Given the description of an element on the screen output the (x, y) to click on. 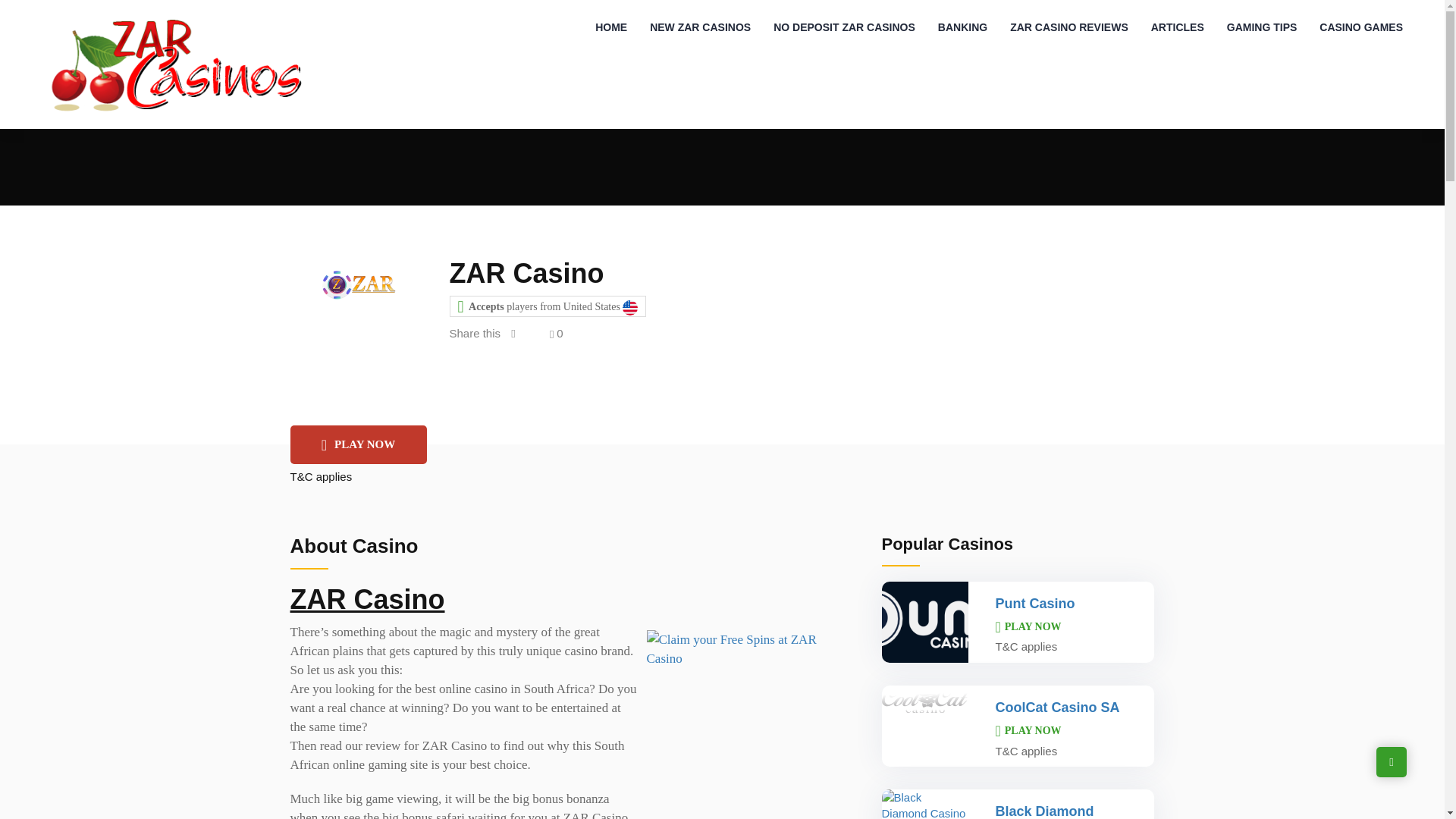
GAMING TIPS (1261, 27)
BANKING (962, 27)
CASINO GAMES (1360, 27)
NO DEPOSIT ZAR CASINOS (843, 27)
HOME (611, 27)
ZAR CASINO REVIEWS (1069, 27)
ARTICLES (1177, 27)
NEW ZAR CASINOS (700, 27)
